Given the description of an element on the screen output the (x, y) to click on. 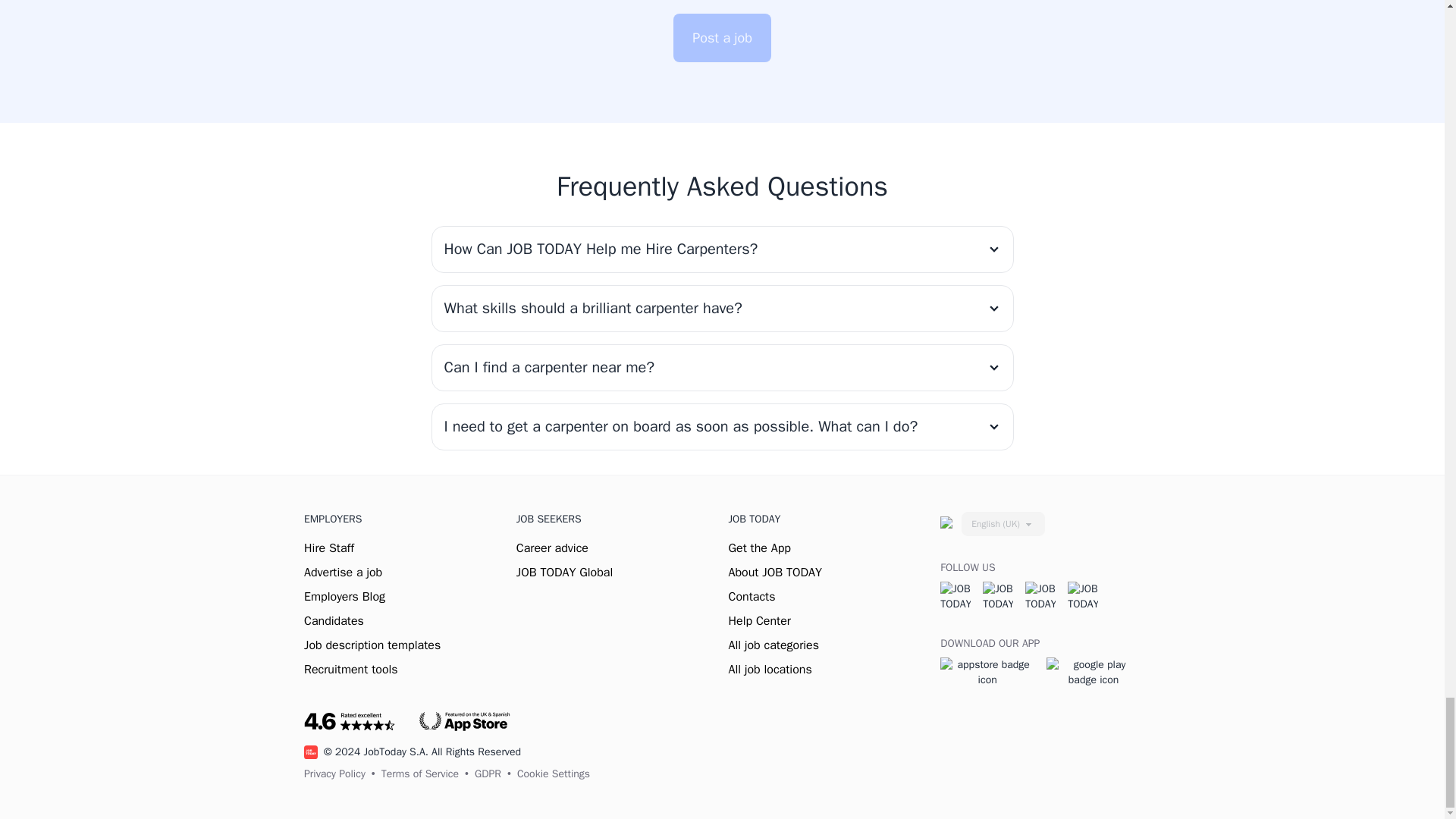
JOB TODAY Android Application (1093, 671)
JOB TODAY Facebook (955, 596)
JOB TODAY iOS Application (986, 671)
JOB TODAY Twitter (997, 596)
JOB TODAY LinkedIn (1082, 596)
JOB TODAY logo (310, 752)
JOB TODAY Instagram (1040, 596)
